Given the description of an element on the screen output the (x, y) to click on. 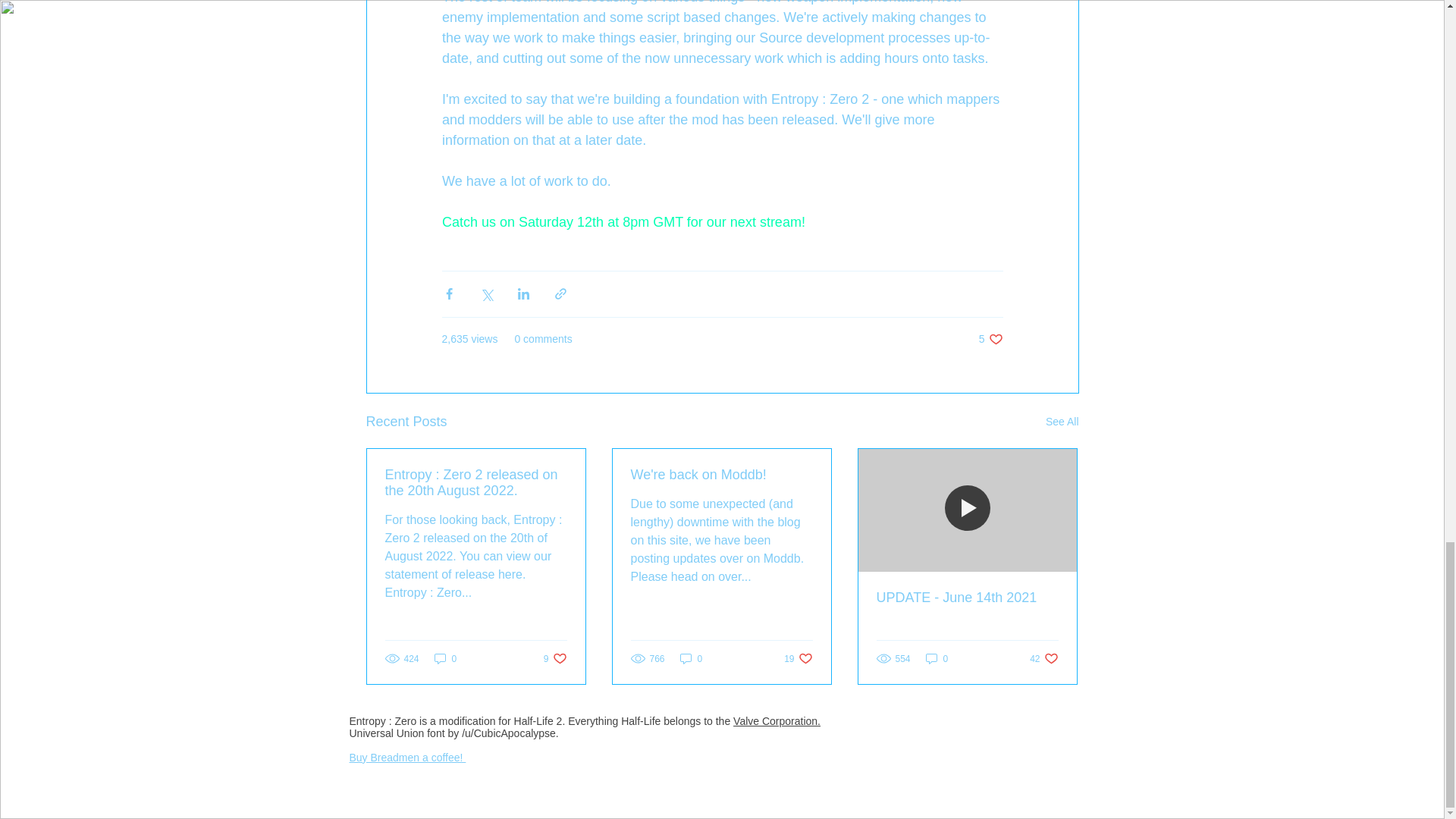
Buy Breadmen a coffee!  (407, 757)
See All (555, 658)
Catch us on Saturday 12th at 8pm GMT for our next stream! (1043, 658)
Valve Corporation. (1061, 422)
Entropy : Zero 2 released on the 20th August 2022. (623, 222)
0 (777, 720)
